Given the description of an element on the screen output the (x, y) to click on. 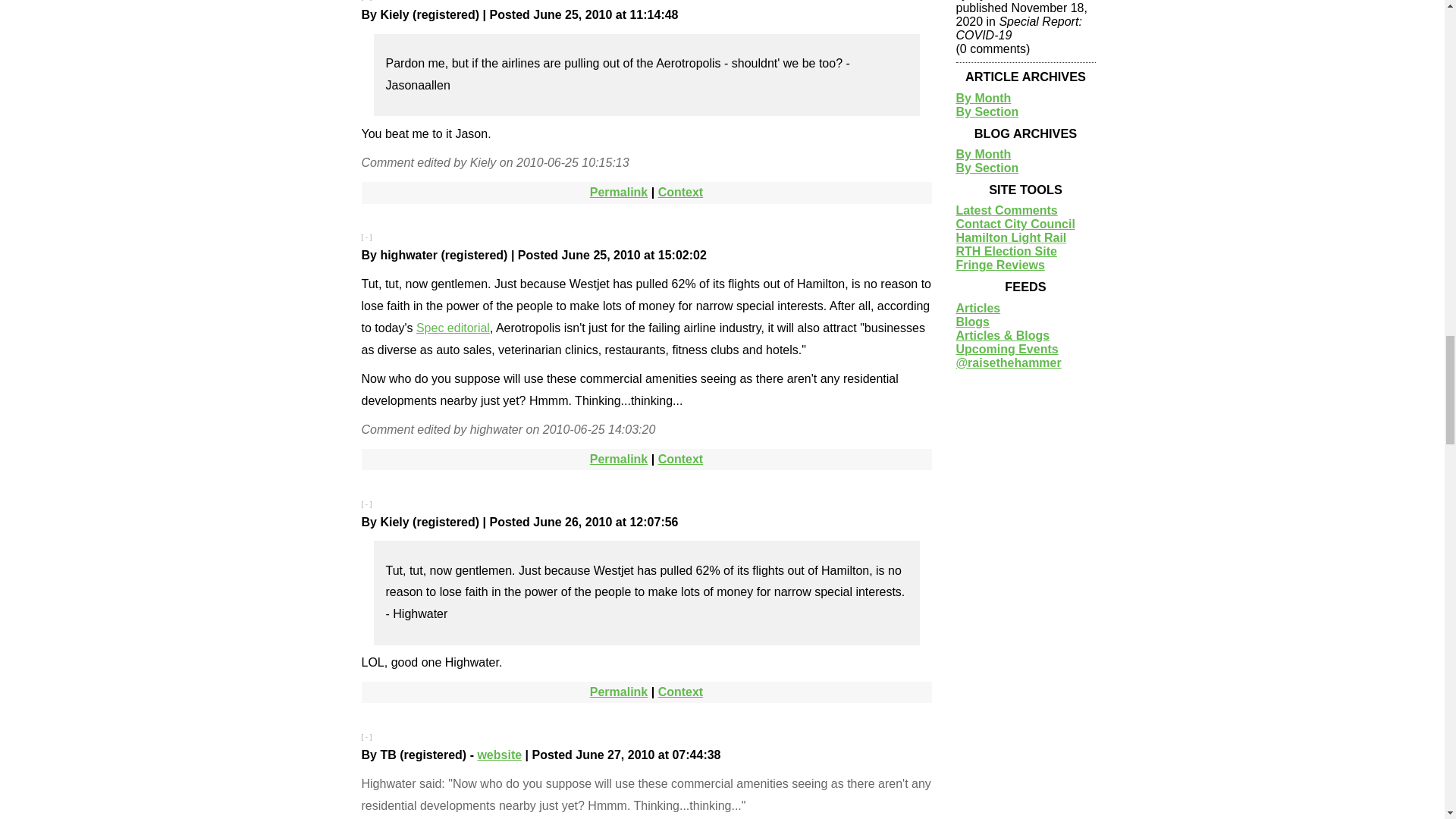
Context (680, 192)
Context (680, 459)
Spec editorial (452, 327)
Permalink (618, 192)
Permalink (618, 459)
